Given the description of an element on the screen output the (x, y) to click on. 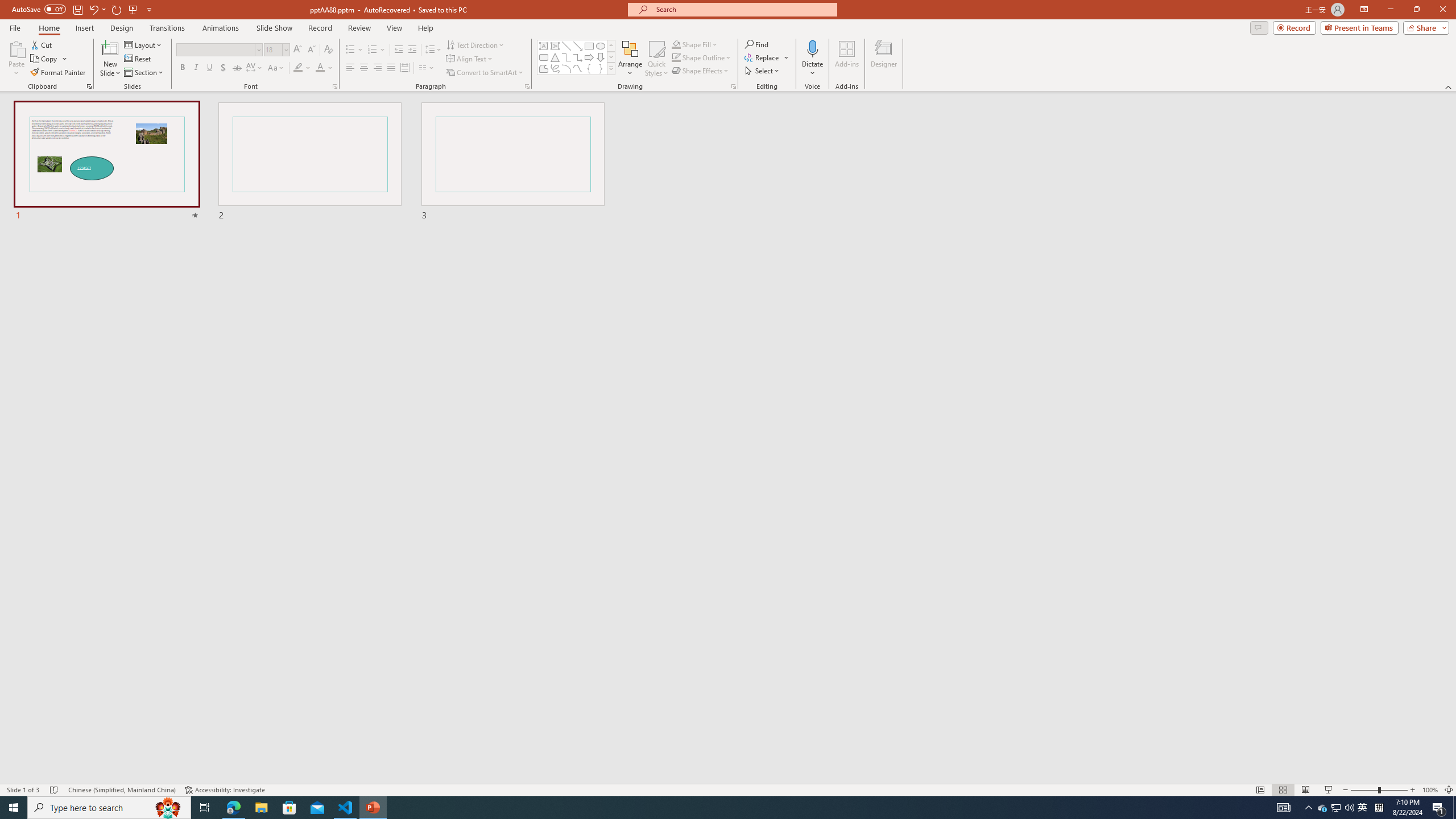
Quick Styles (656, 58)
Office Clipboard... (88, 85)
Font Color Red (320, 67)
Format Object... (733, 85)
